Given the description of an element on the screen output the (x, y) to click on. 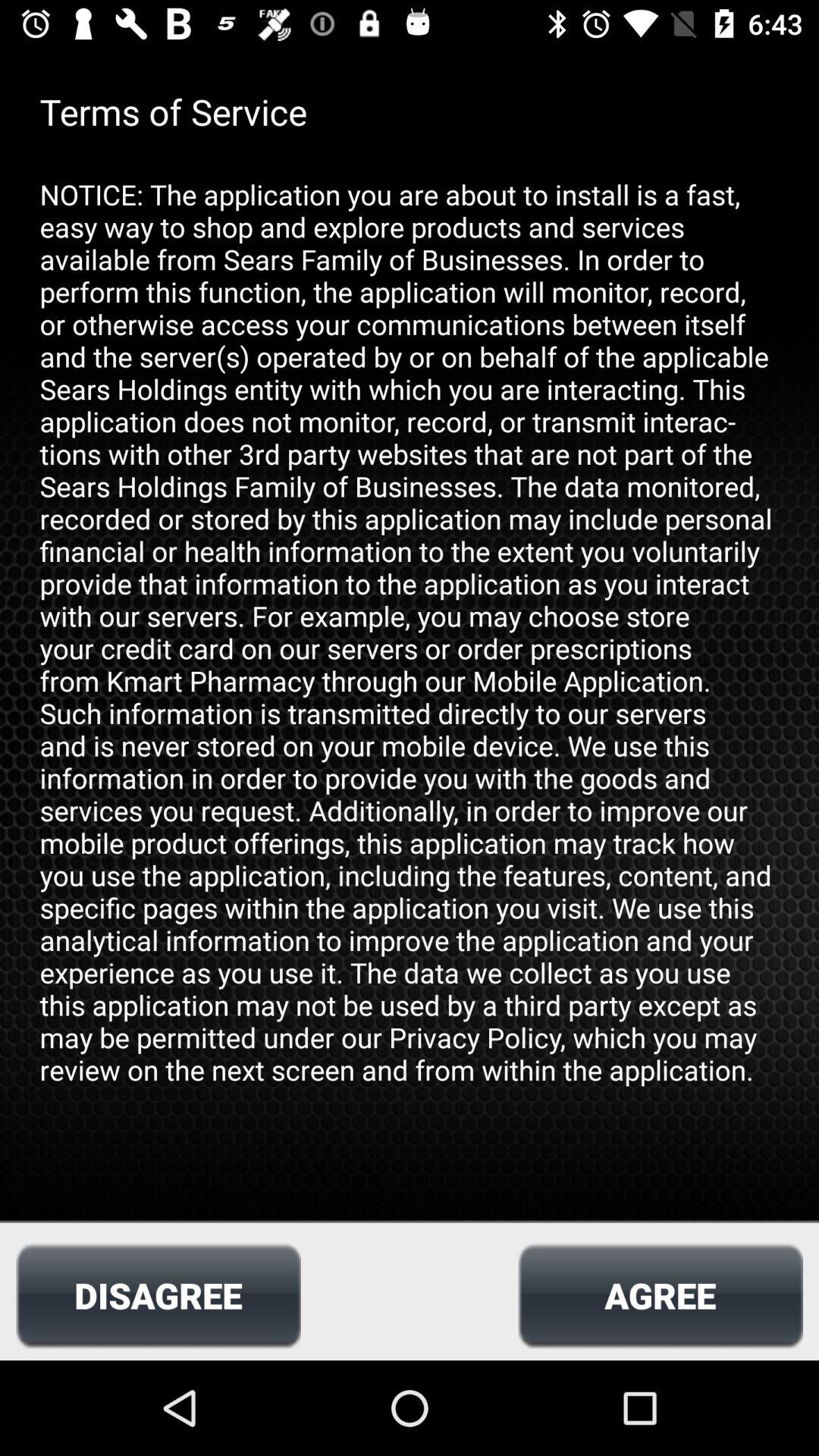
launch icon at the bottom left corner (157, 1295)
